Given the description of an element on the screen output the (x, y) to click on. 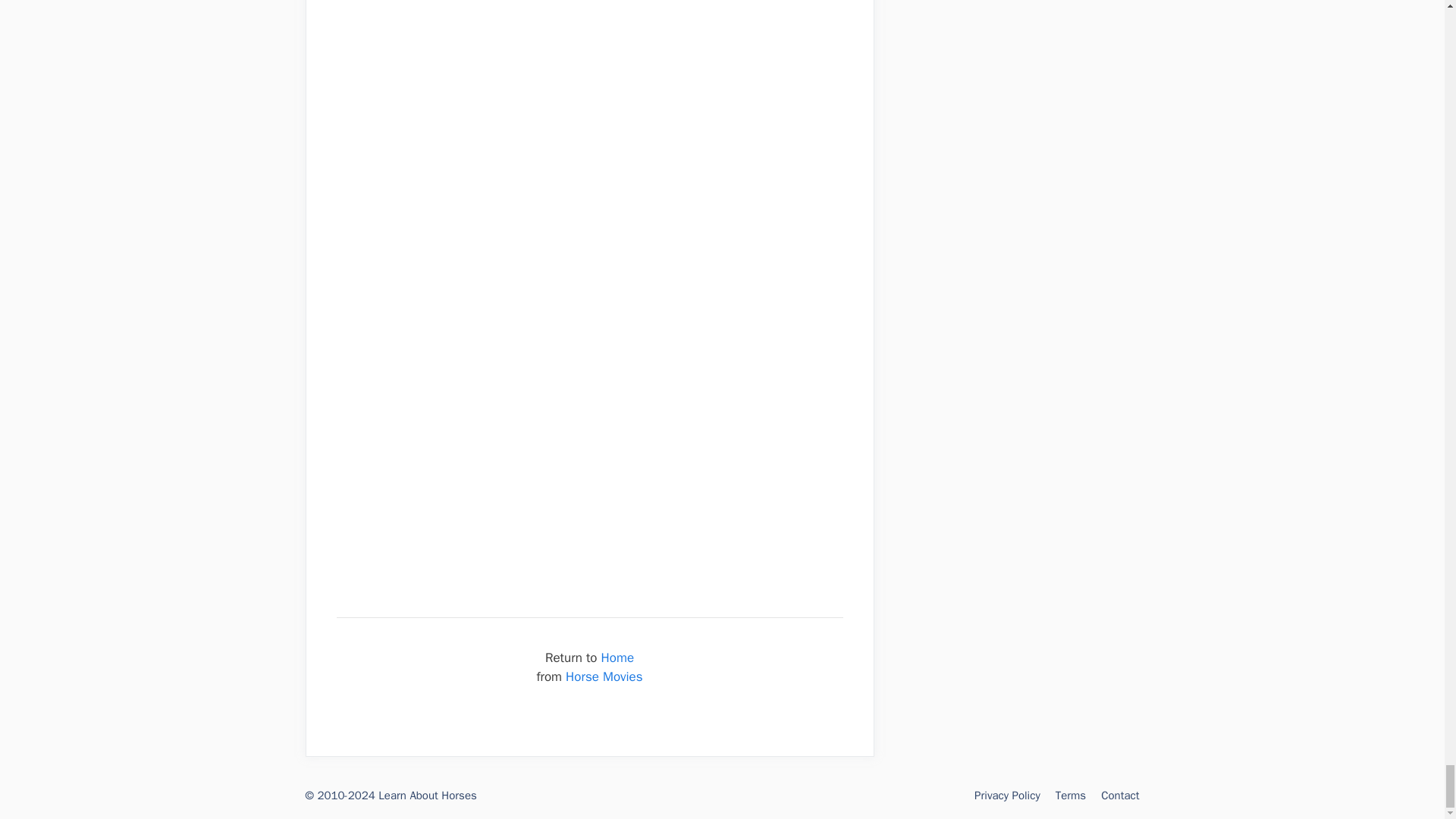
Watching horse movies (589, 449)
